Given the description of an element on the screen output the (x, y) to click on. 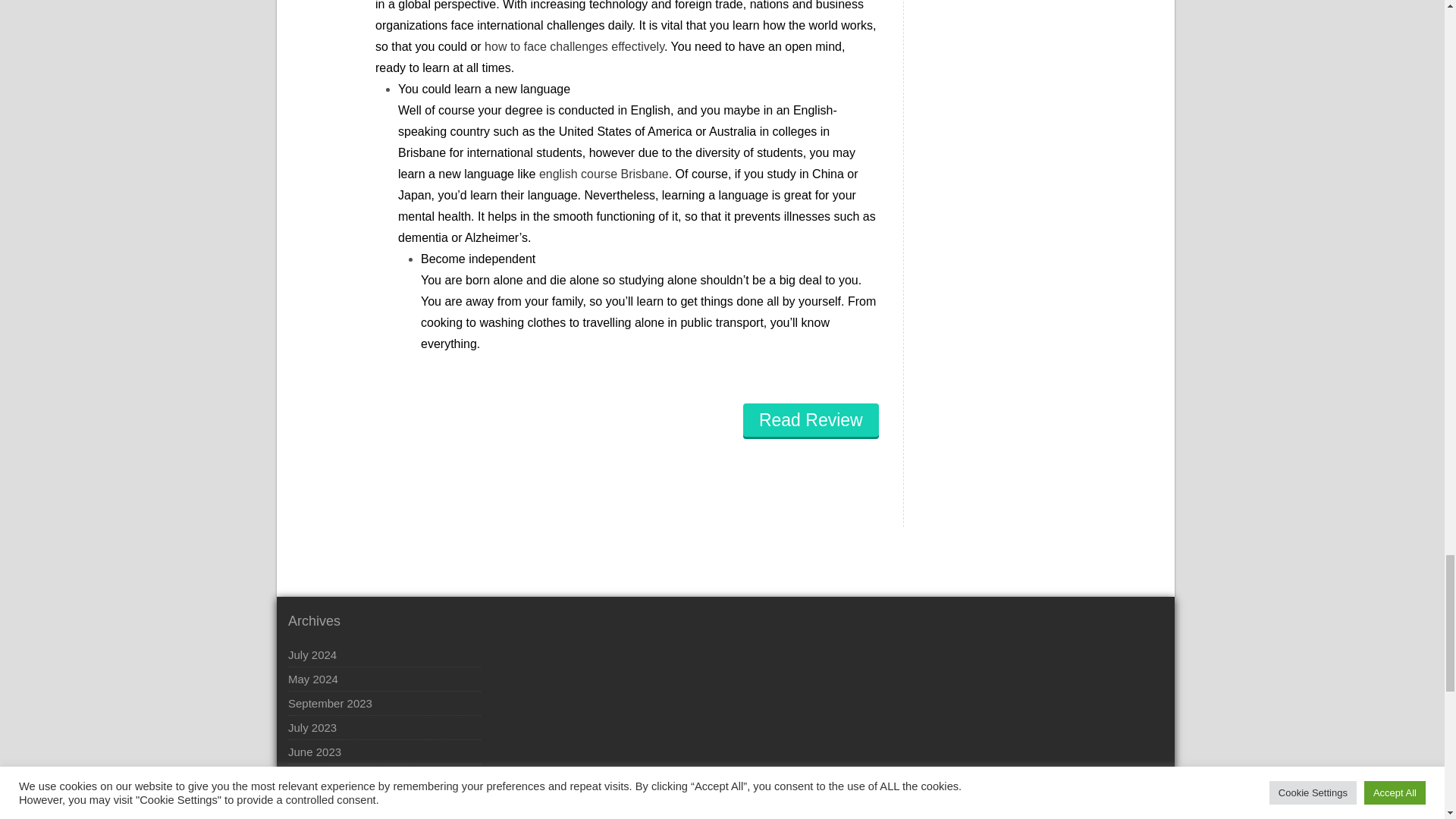
english course Brisbane (603, 173)
Read Review (810, 419)
how to face challenges effectively (573, 46)
